Given the description of an element on the screen output the (x, y) to click on. 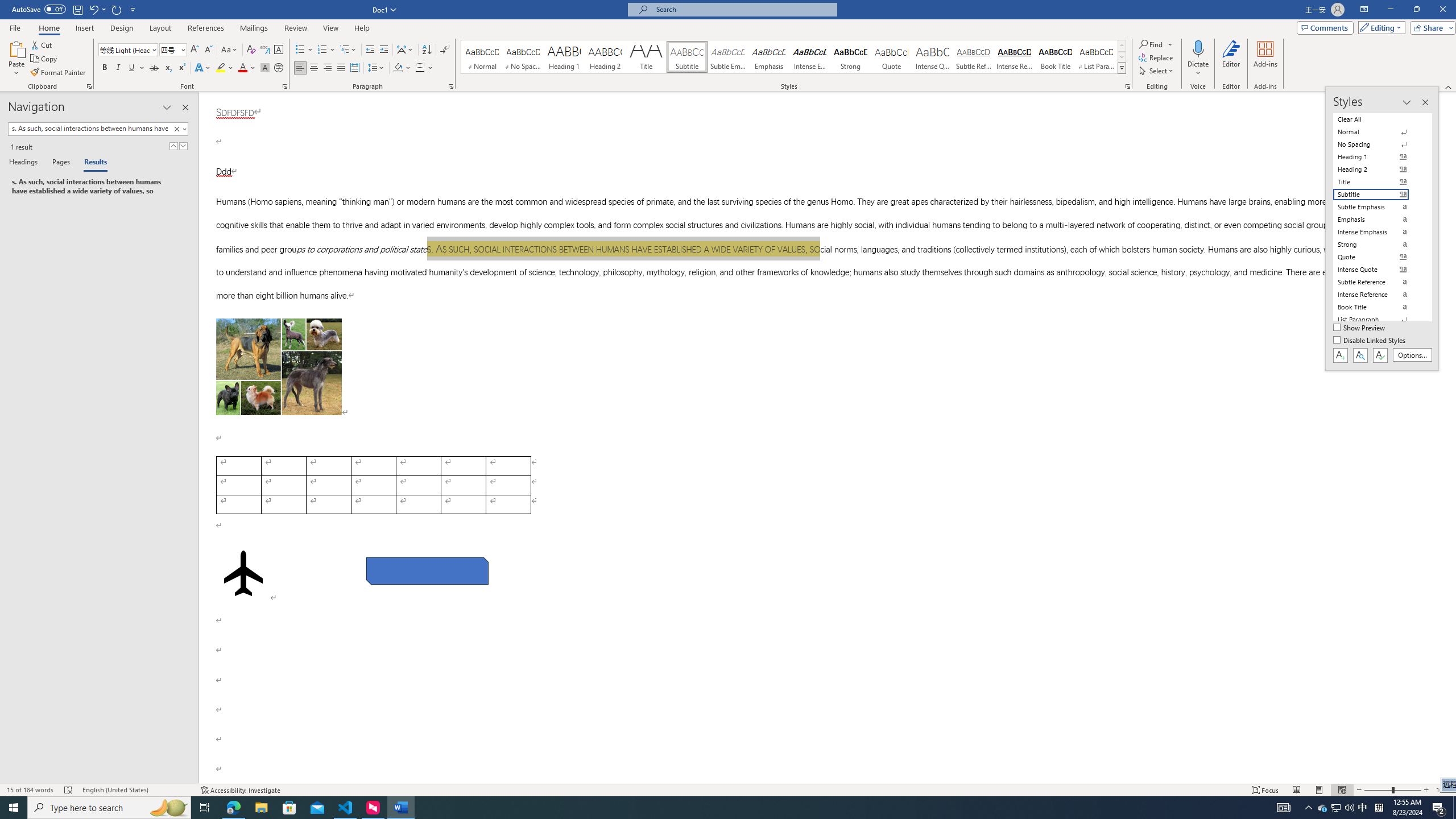
Borders (419, 67)
Font Color RGB(255, 0, 0) (241, 67)
More Options (1197, 68)
Phonetic Guide... (264, 49)
Title (646, 56)
Repeat Style (117, 9)
Intense Quote (932, 56)
Focus  (1265, 790)
Next Result (183, 145)
Cut (42, 44)
Paste (16, 48)
Underline (131, 67)
Help (361, 28)
Shrink Font (208, 49)
Web Layout (1342, 790)
